Given the description of an element on the screen output the (x, y) to click on. 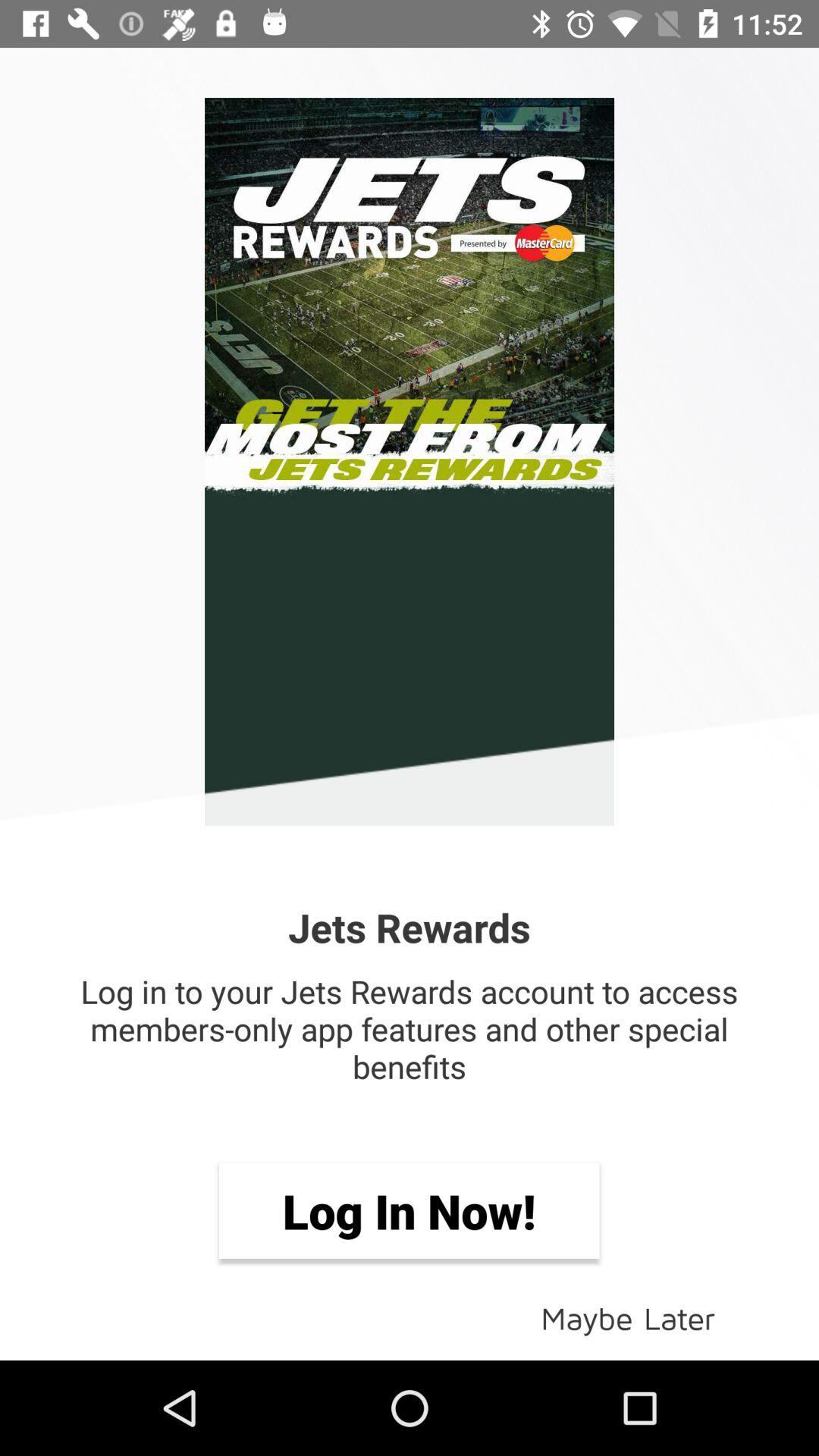
press icon at the bottom right corner (627, 1317)
